Given the description of an element on the screen output the (x, y) to click on. 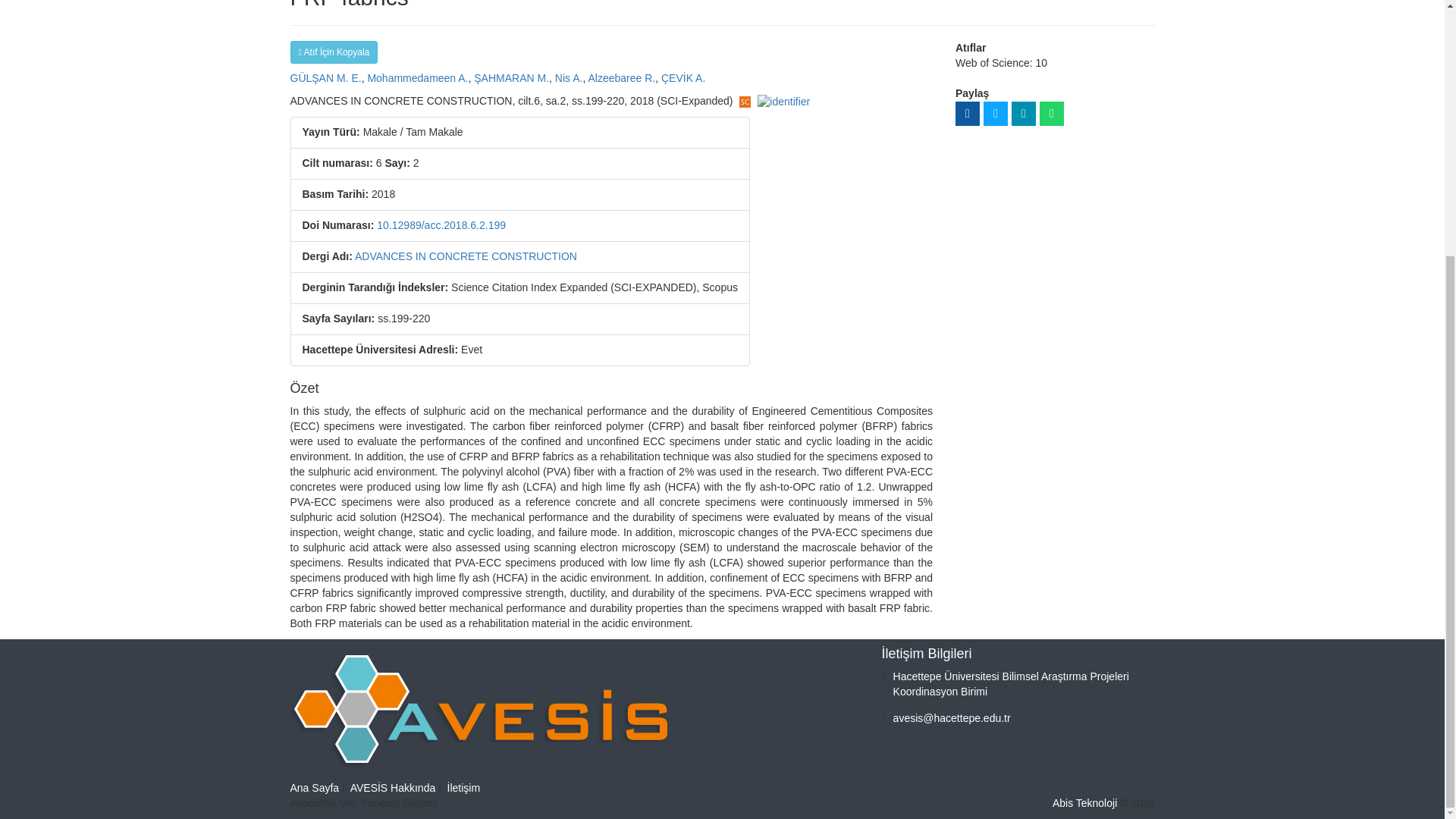
Nis A. (568, 78)
Anil Nis (568, 78)
ADVANCES IN CONCRETE CONSTRUCTION (465, 256)
Alzeebaree R. (621, 78)
Abis Teknoloji (1084, 802)
Ana Sayfa (314, 787)
Mohammedameen A. (416, 78)
Radhwan Alzeebaree (621, 78)
Alaa Mohammedameen (416, 78)
